Given the description of an element on the screen output the (x, y) to click on. 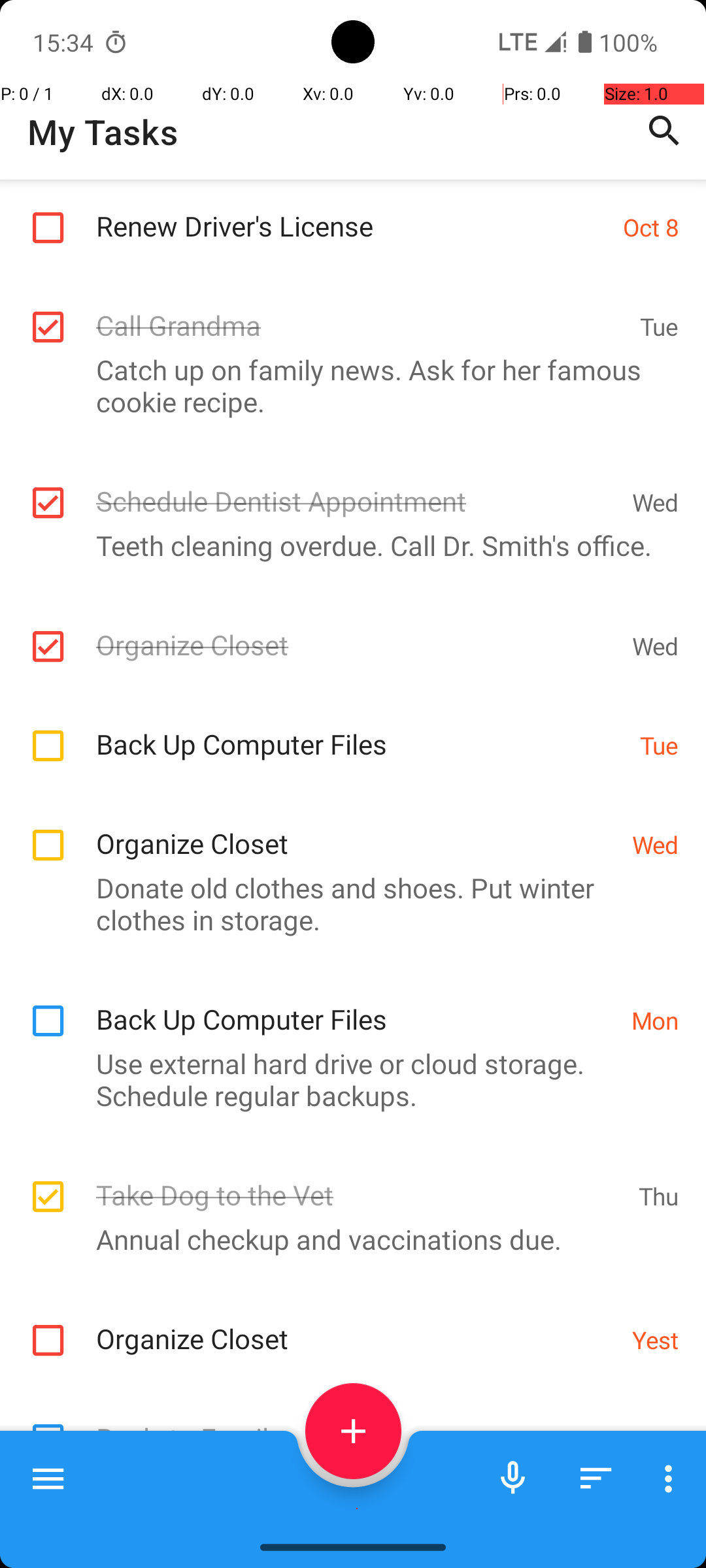
Catch up on family news. Ask for her famous cookie recipe. Element type: android.widget.TextView (346, 385)
Teeth cleaning overdue. Call Dr. Smith's office. Element type: android.widget.TextView (346, 544)
Donate old clothes and shoes. Put winter clothes in storage. Element type: android.widget.TextView (346, 903)
Use external hard drive or cloud storage. Schedule regular backups. Element type: android.widget.TextView (346, 1078)
Annual checkup and vaccinations due. Element type: android.widget.TextView (346, 1238)
